Given the description of an element on the screen output the (x, y) to click on. 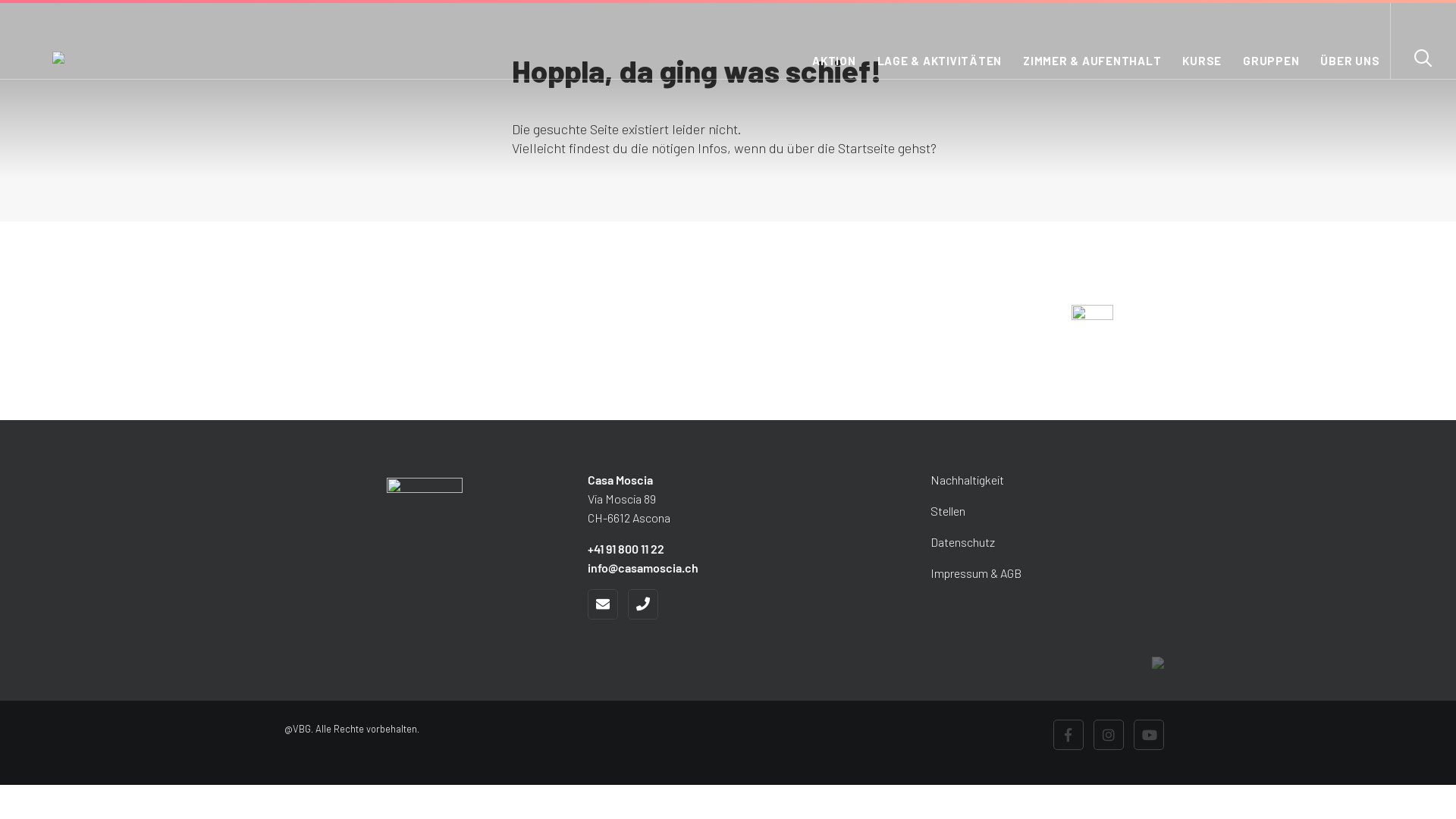
Datenschutz Element type: text (942, 541)
Tel Element type: text (642, 604)
GRUPPEN Element type: text (1270, 66)
+41 91 800 11 22 Element type: text (625, 548)
E Element type: text (602, 604)
Zur Webseite Campo Rasa Element type: hover (1092, 323)
Nachhaltigkeit Element type: text (947, 479)
JETZT ENTDECKEN Element type: text (961, 326)
AKTION Element type: text (834, 66)
ZIMMER & AUFENTHALT Element type: text (1091, 66)
Impressum & AGB Element type: text (956, 572)
KURSE Element type: text (1201, 66)
info@casamoscia.ch Element type: text (642, 567)
Stellen Element type: text (928, 510)
